Given the description of an element on the screen output the (x, y) to click on. 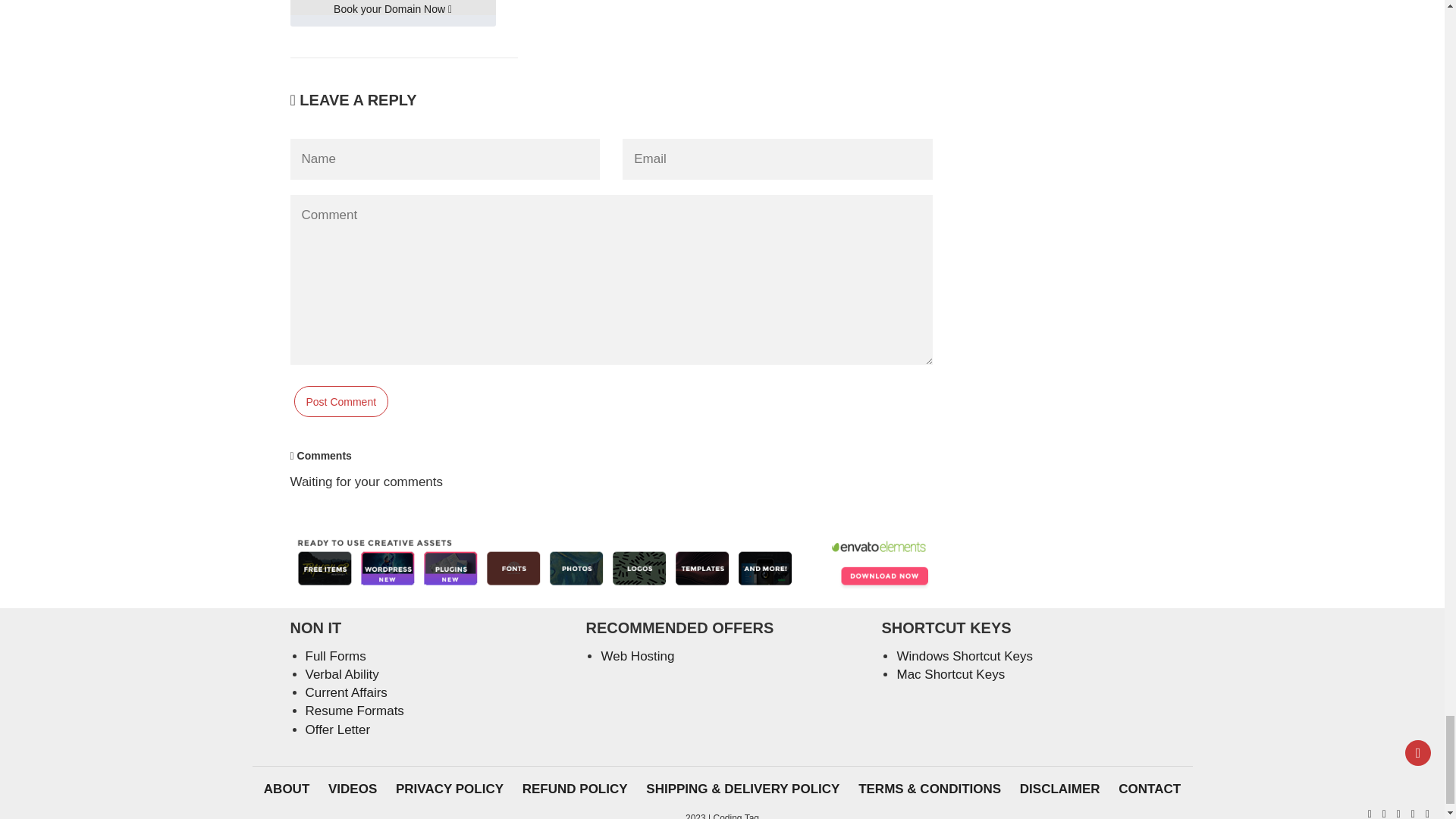
Post Comment (341, 400)
